Given the description of an element on the screen output the (x, y) to click on. 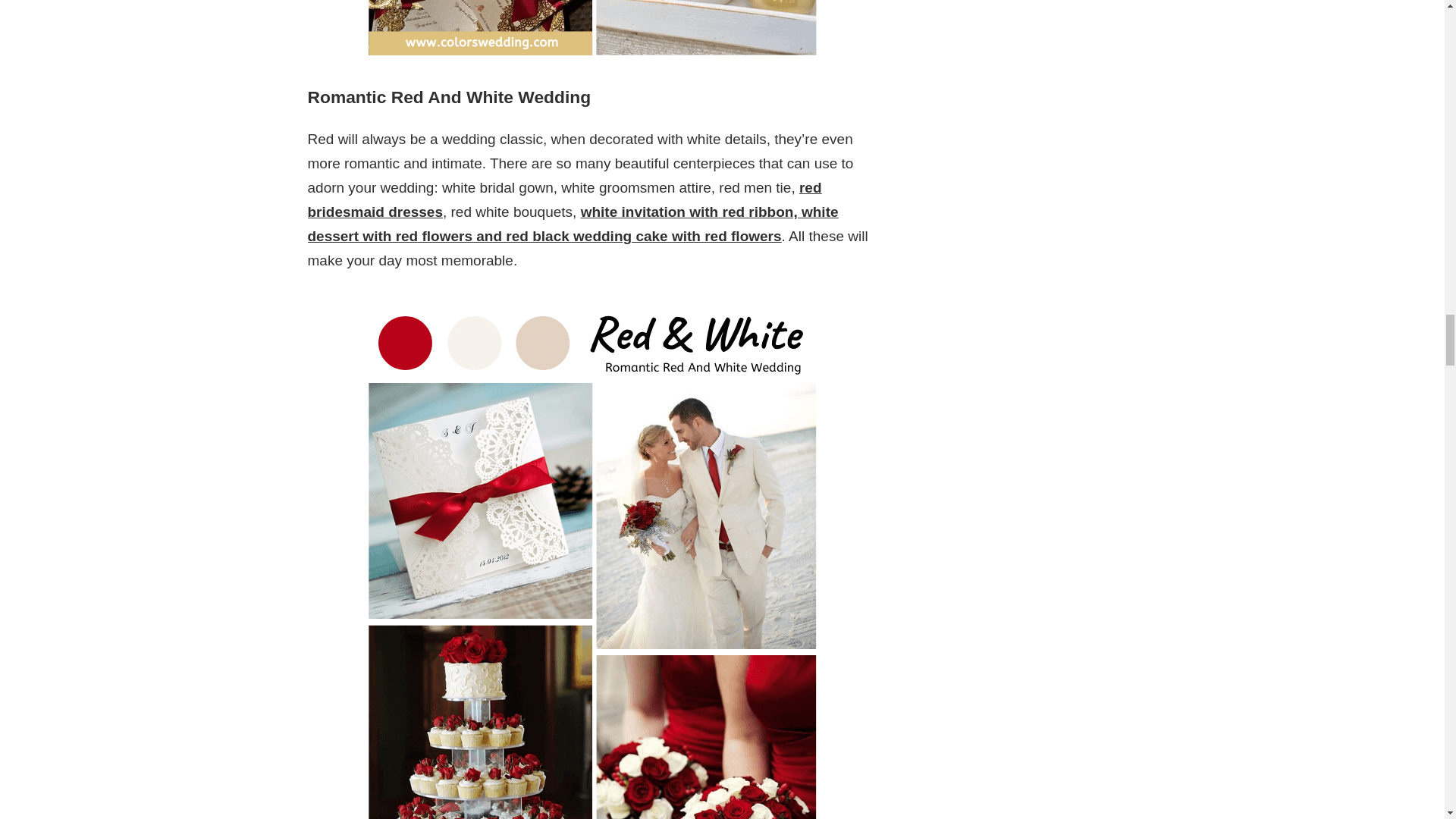
red bridesmaid dresses (564, 199)
